Given the description of an element on the screen output the (x, y) to click on. 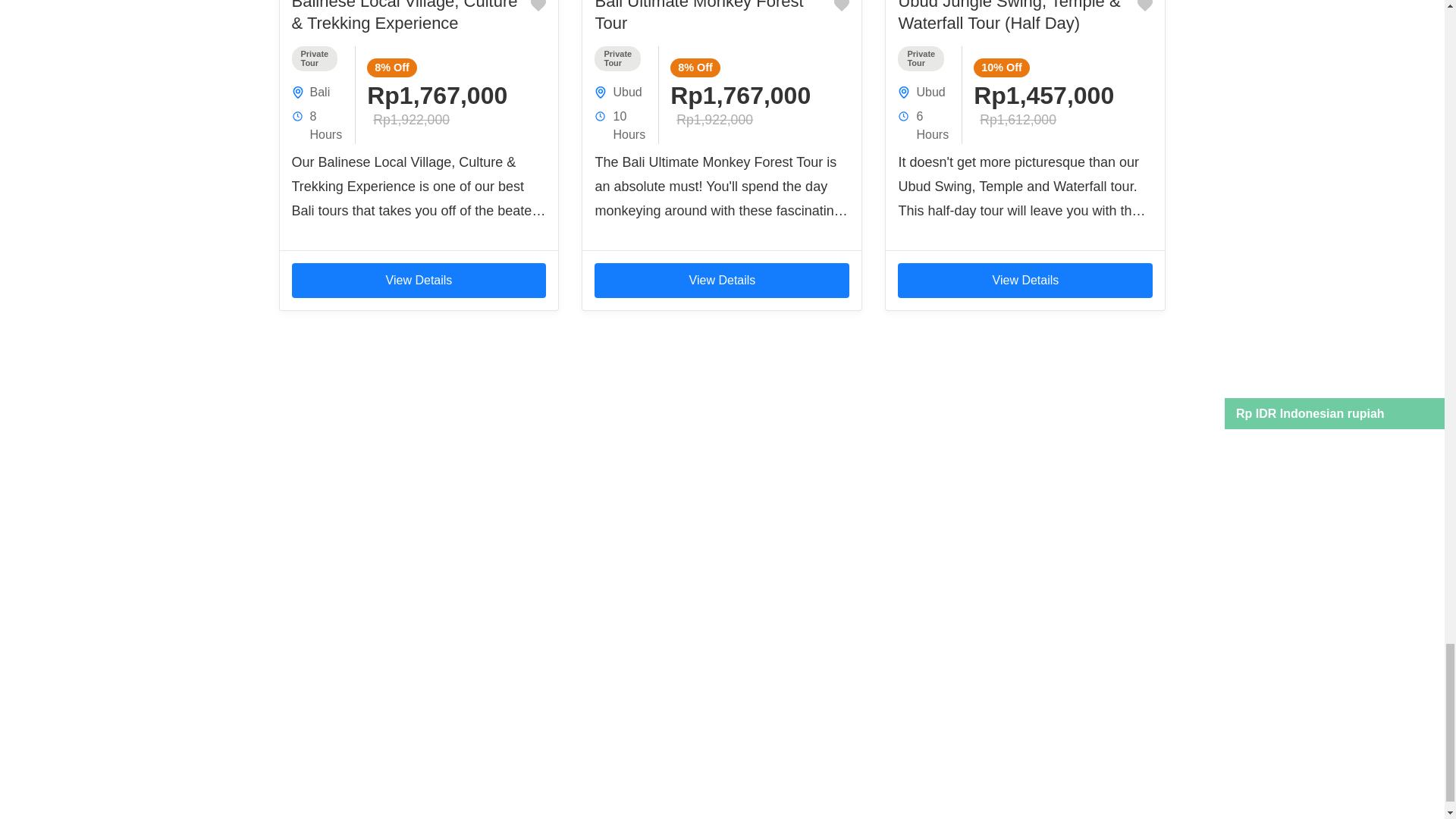
Add to wishlist (538, 8)
Add to wishlist (841, 8)
Add to wishlist (1145, 8)
